Given the description of an element on the screen output the (x, y) to click on. 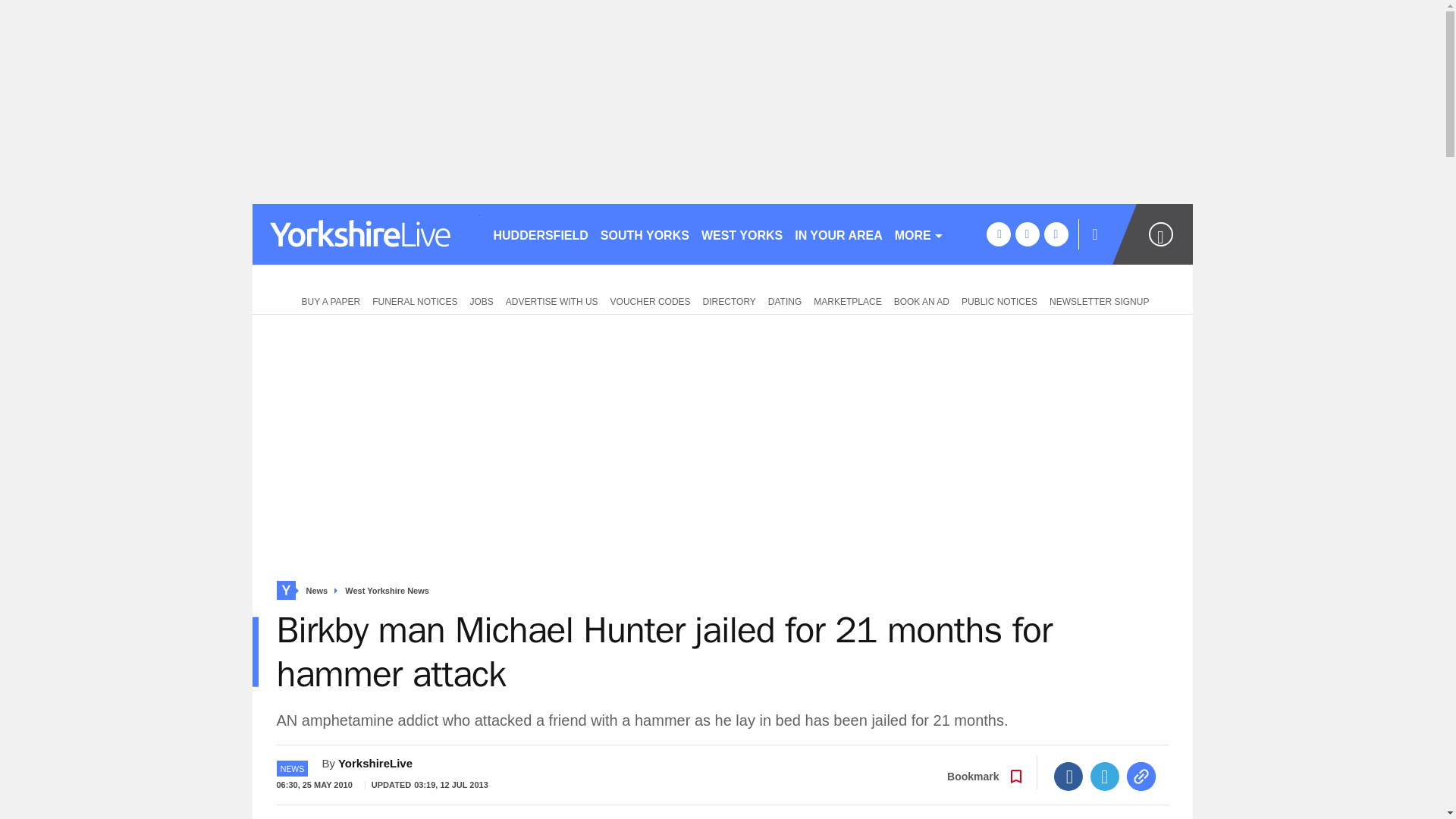
instagram (1055, 233)
HUDDERSFIELD (540, 233)
twitter (1026, 233)
SOUTH YORKS (644, 233)
huddersfieldexaminer (365, 233)
Facebook (1068, 776)
facebook (997, 233)
IN YOUR AREA (838, 233)
WEST YORKS (742, 233)
Twitter (1104, 776)
MORE (919, 233)
